Given the description of an element on the screen output the (x, y) to click on. 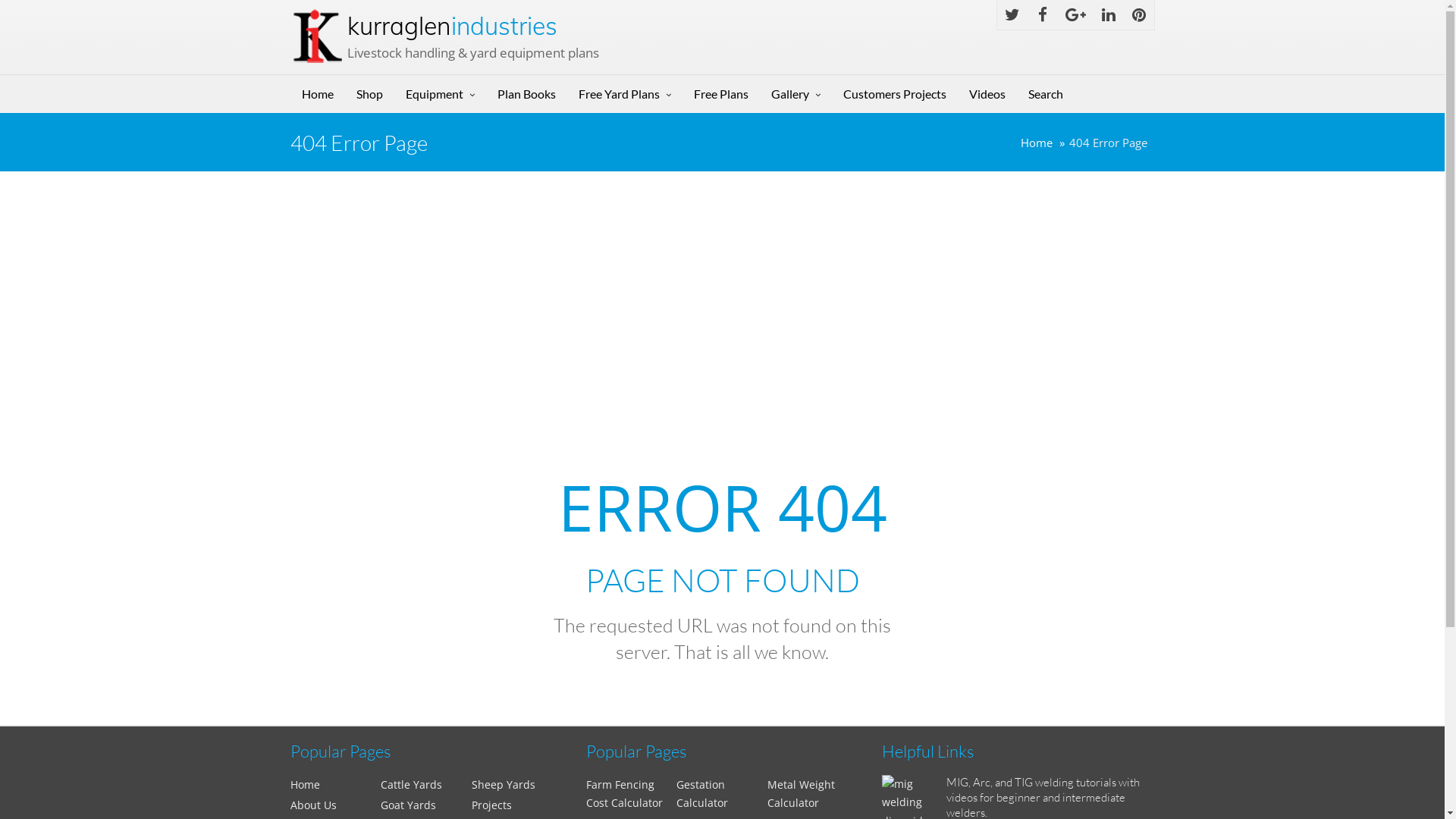
Free Plans Element type: text (720, 93)
Home Element type: text (1036, 142)
Customers Projects Element type: text (894, 93)
Gallery Element type: text (795, 93)
Farm Fencing Cost Calculator Element type: text (623, 793)
Projects Element type: text (491, 804)
Home Element type: text (304, 784)
Sheep Yards Element type: text (503, 784)
Videos Element type: text (986, 93)
About Us Element type: text (312, 804)
Free Yard Plans Element type: text (624, 93)
Search Element type: text (1044, 93)
Advertisement Element type: hover (721, 307)
Home Element type: text (316, 93)
Metal Weight Calculator Element type: text (800, 793)
kurraglen industries Element type: text (452, 25)
Plan Books Element type: text (525, 93)
Goat Yards Element type: text (408, 804)
Shop Element type: text (368, 93)
Equipment Element type: text (440, 93)
Cattle Yards Element type: text (411, 784)
Gestation Calculator Element type: text (702, 793)
